Given the description of an element on the screen output the (x, y) to click on. 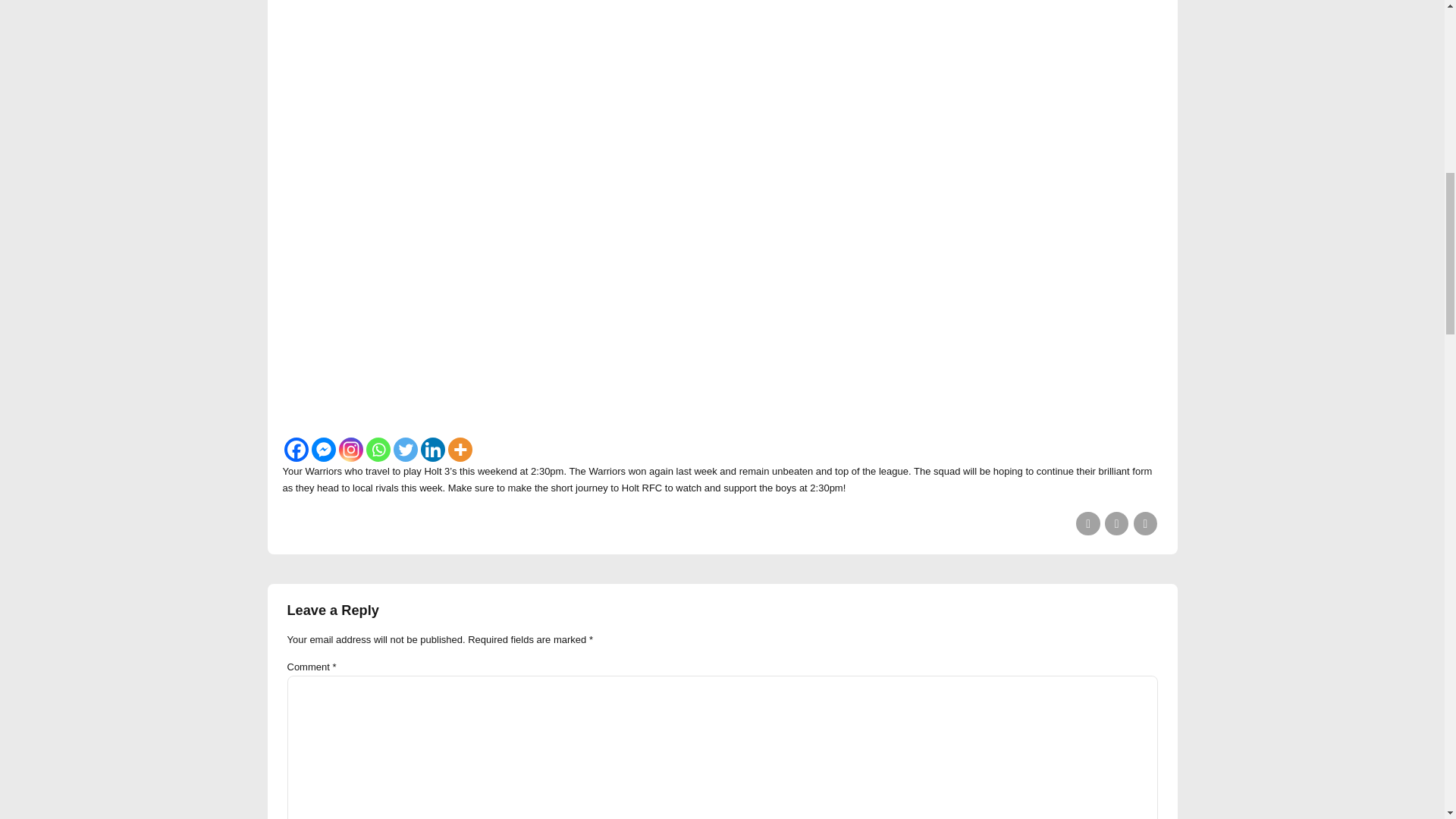
Facebook (295, 449)
Twitter (404, 449)
Whatsapp (377, 449)
Share on Facebook (1087, 523)
Linkedin (432, 449)
Instagram (349, 449)
More (458, 449)
